Given the description of an element on the screen output the (x, y) to click on. 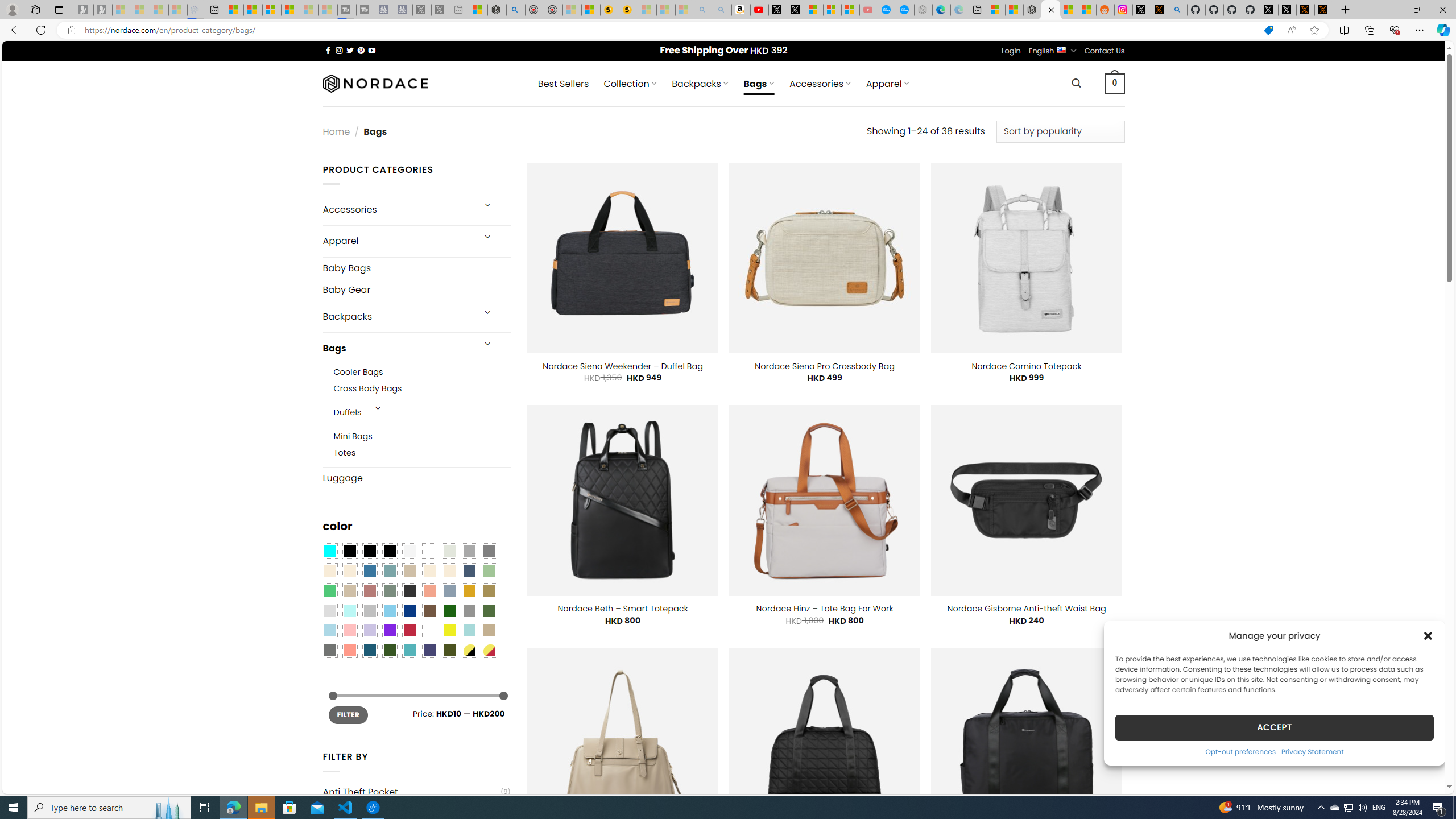
 Best Sellers (563, 83)
White (429, 630)
Settings and more (Alt+F) (1419, 29)
Wildlife - MSN (478, 9)
Baby Gear (416, 289)
Nordace - Best Sellers (1032, 9)
